Given the description of an element on the screen output the (x, y) to click on. 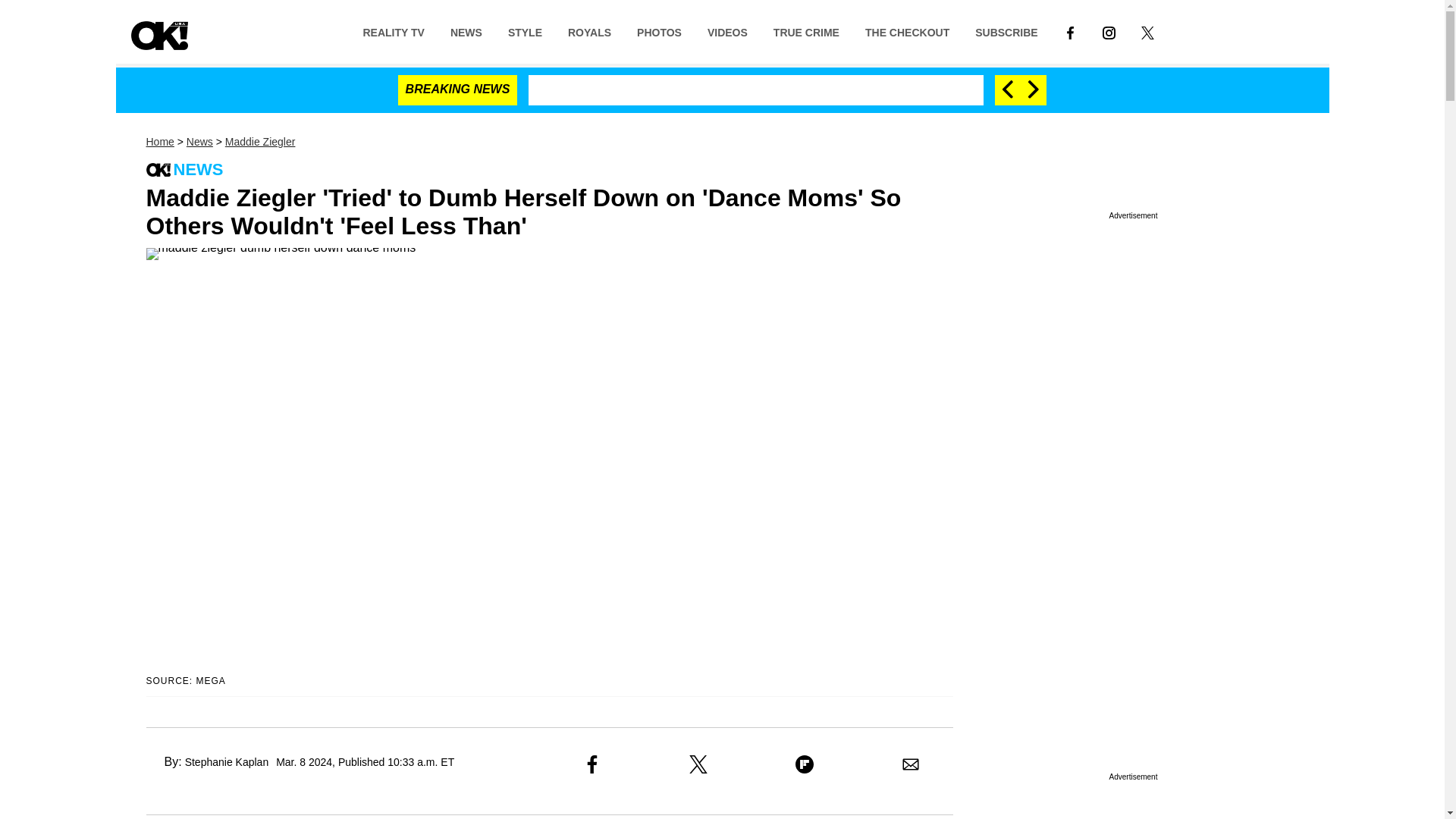
PHOTOS (659, 31)
LINK TO FACEBOOK (1070, 31)
Share to X (697, 764)
TRUE CRIME (805, 31)
STYLE (524, 31)
THE CHECKOUT (906, 31)
LINK TO FACEBOOK (1070, 32)
LINK TO X (1147, 31)
NEWS (466, 31)
Stephanie Kaplan (226, 761)
SUBSCRIBE (1005, 31)
LINK TO INSTAGRAM (1108, 32)
News (199, 141)
VIDEOS (727, 31)
Link to Facebook (1070, 31)
